Given the description of an element on the screen output the (x, y) to click on. 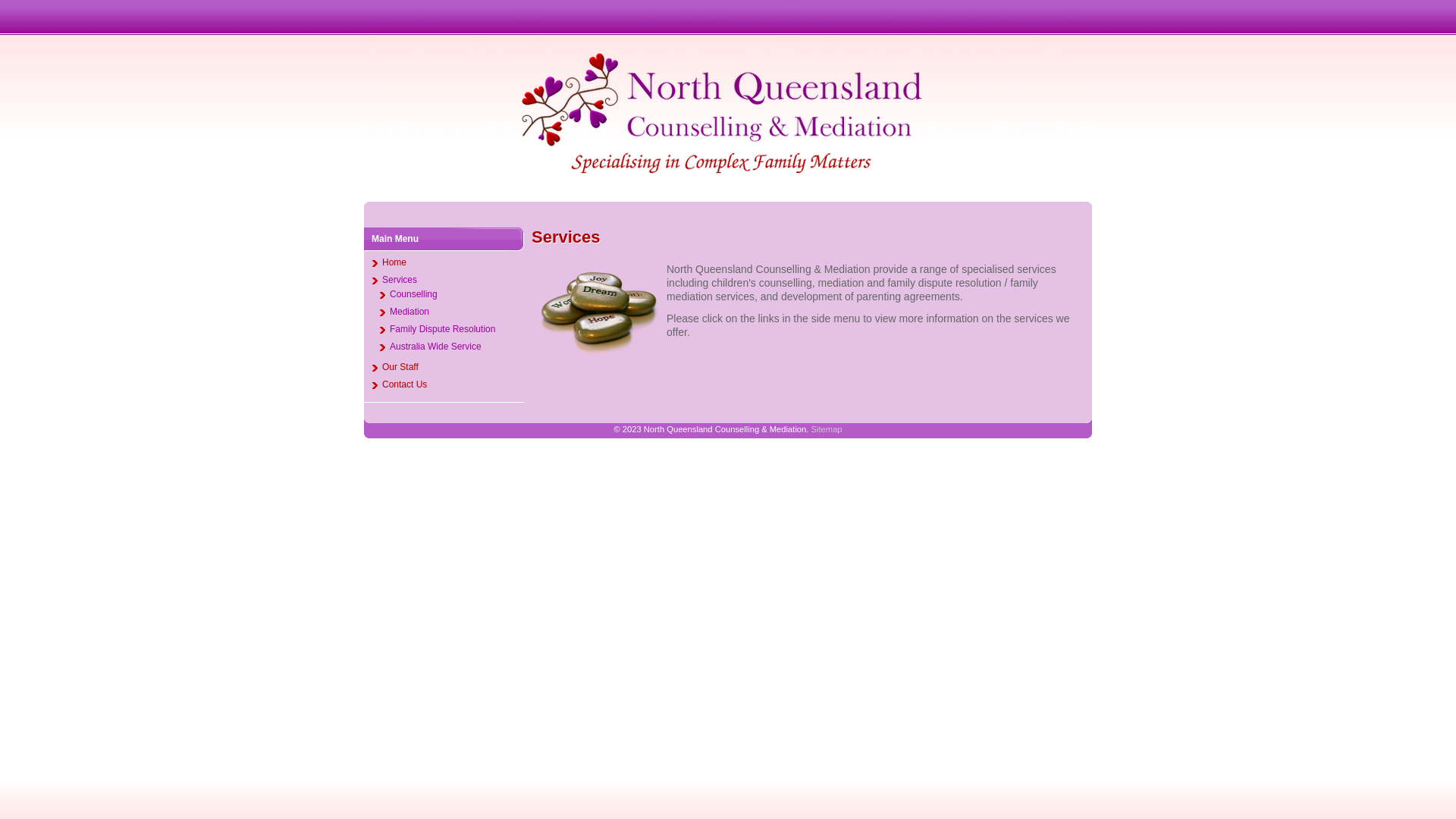
Australia Wide Service Element type: text (451, 347)
Services Element type: text (447, 280)
Contact Us Element type: text (447, 385)
Our Staff Element type: text (447, 367)
Mediation Element type: text (451, 312)
Home Element type: text (447, 263)
Family Dispute Resolution Element type: text (451, 330)
Counselling Element type: text (451, 295)
Sitemap Element type: text (826, 428)
